Given the description of an element on the screen output the (x, y) to click on. 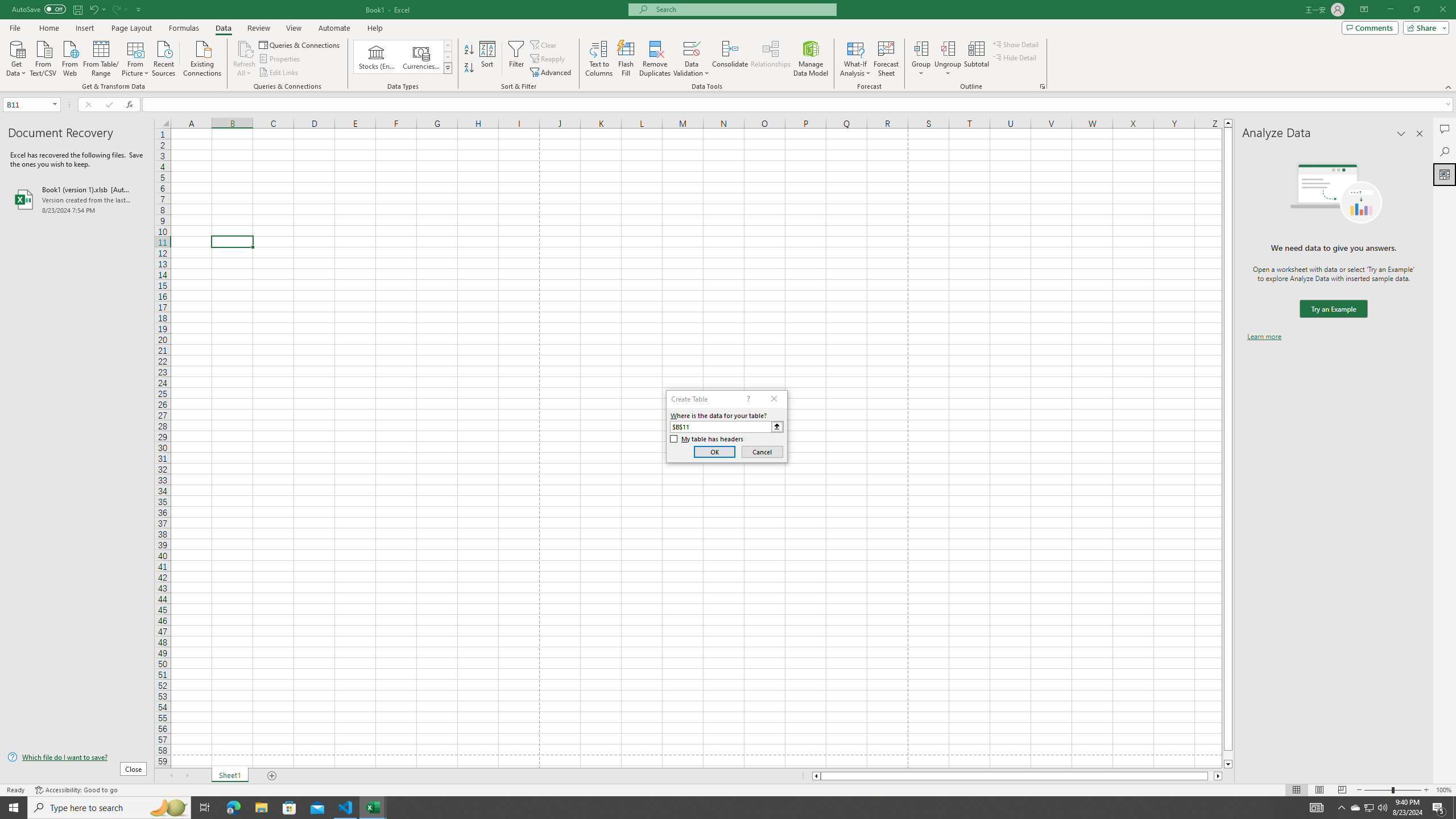
Close pane (1419, 133)
From Picture (135, 57)
We need data to give you answers. Try an Example (1333, 308)
Queries & Connections (300, 44)
Learn more (1264, 336)
Row up (448, 45)
From Text/CSV (43, 57)
Stocks (English) (375, 56)
